Given the description of an element on the screen output the (x, y) to click on. 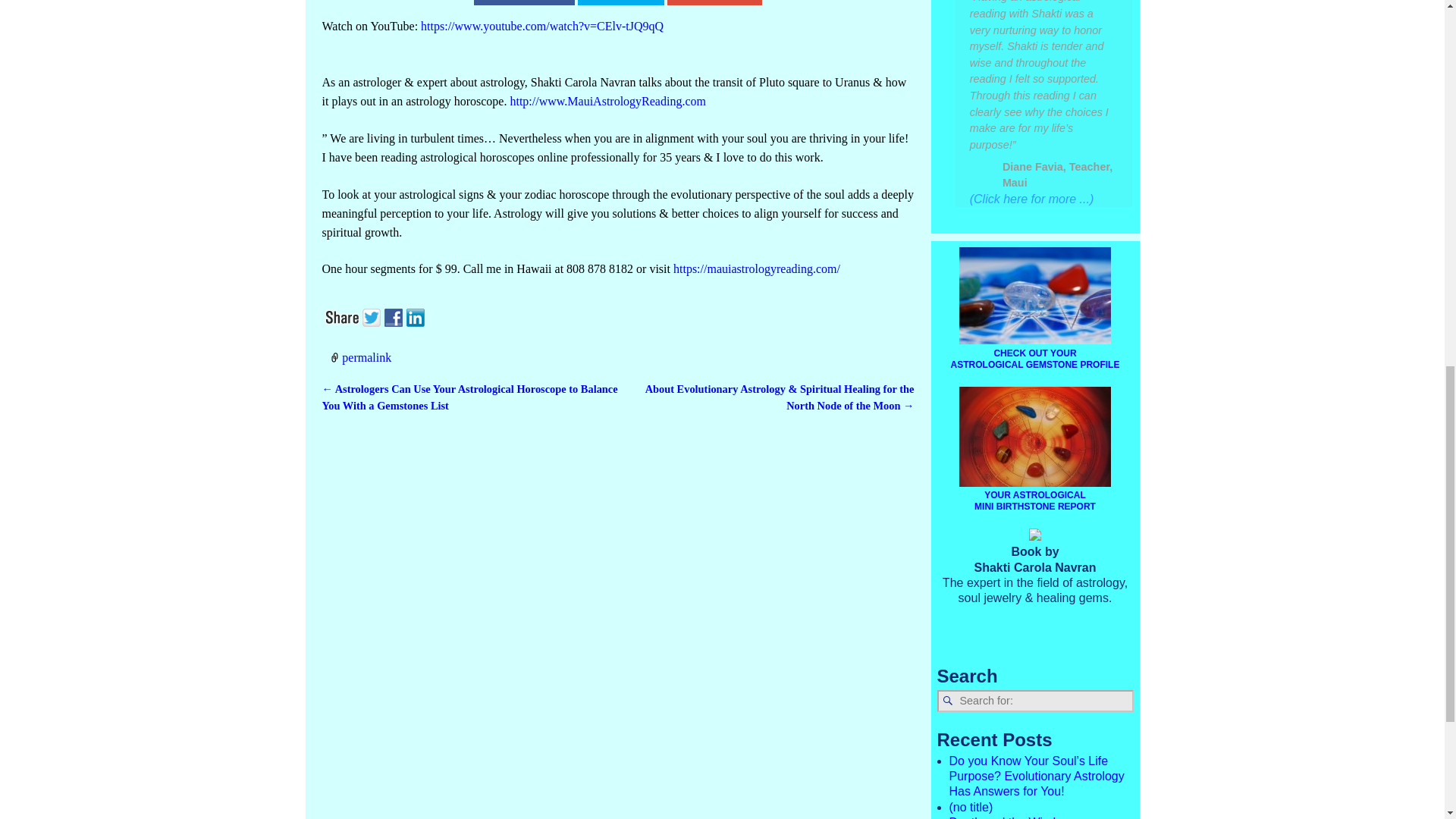
Twitter (373, 315)
Facebook Share (523, 2)
Twitter Share (621, 2)
Facebook (395, 315)
Linkedin (417, 315)
